Given the description of an element on the screen output the (x, y) to click on. 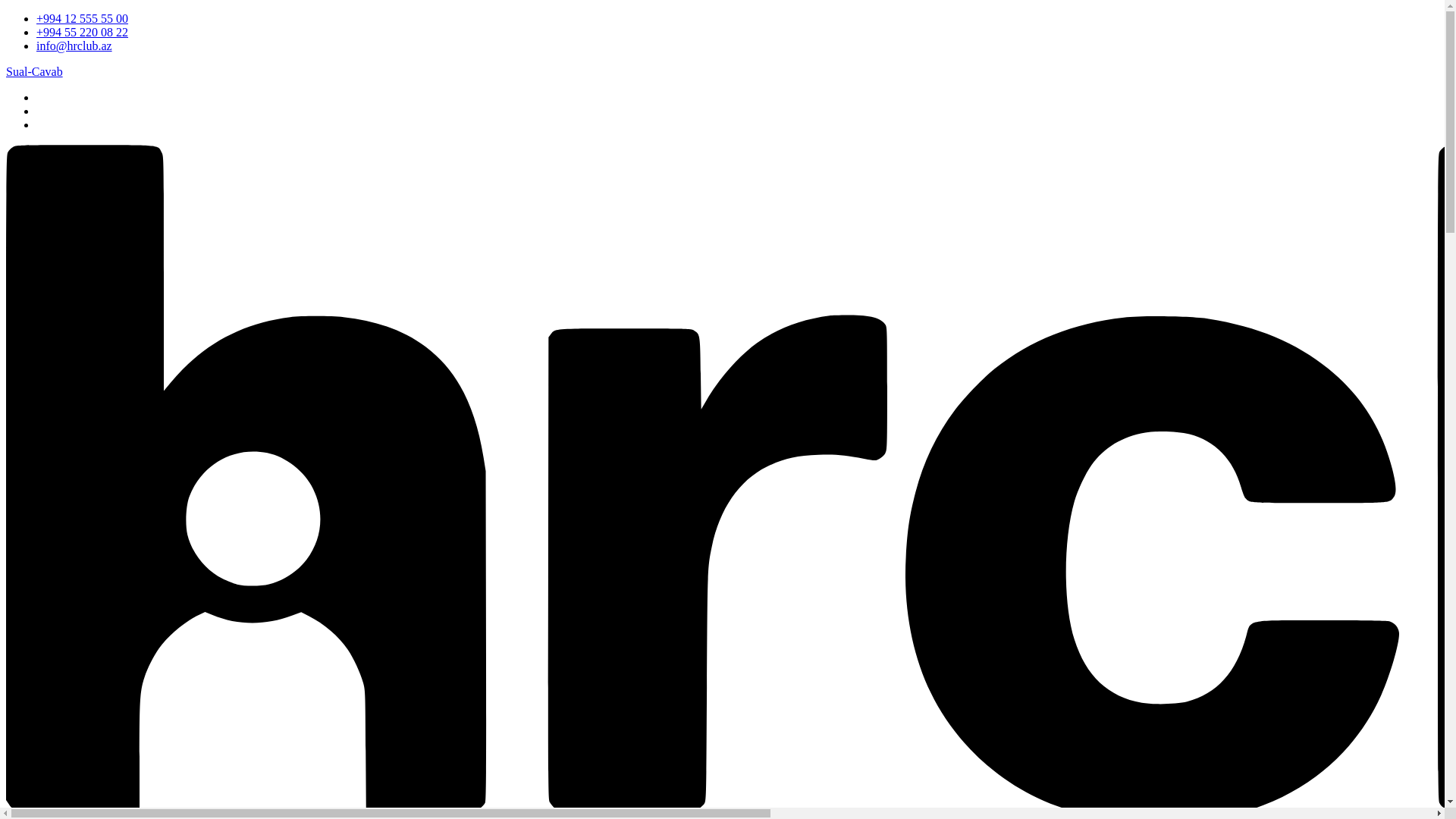
+994 55 220 08 22 Element type: text (82, 31)
Sual-Cavab Element type: text (34, 71)
info@hrclub.az Element type: text (74, 45)
+994 12 555 55 00 Element type: text (82, 18)
